Given the description of an element on the screen output the (x, y) to click on. 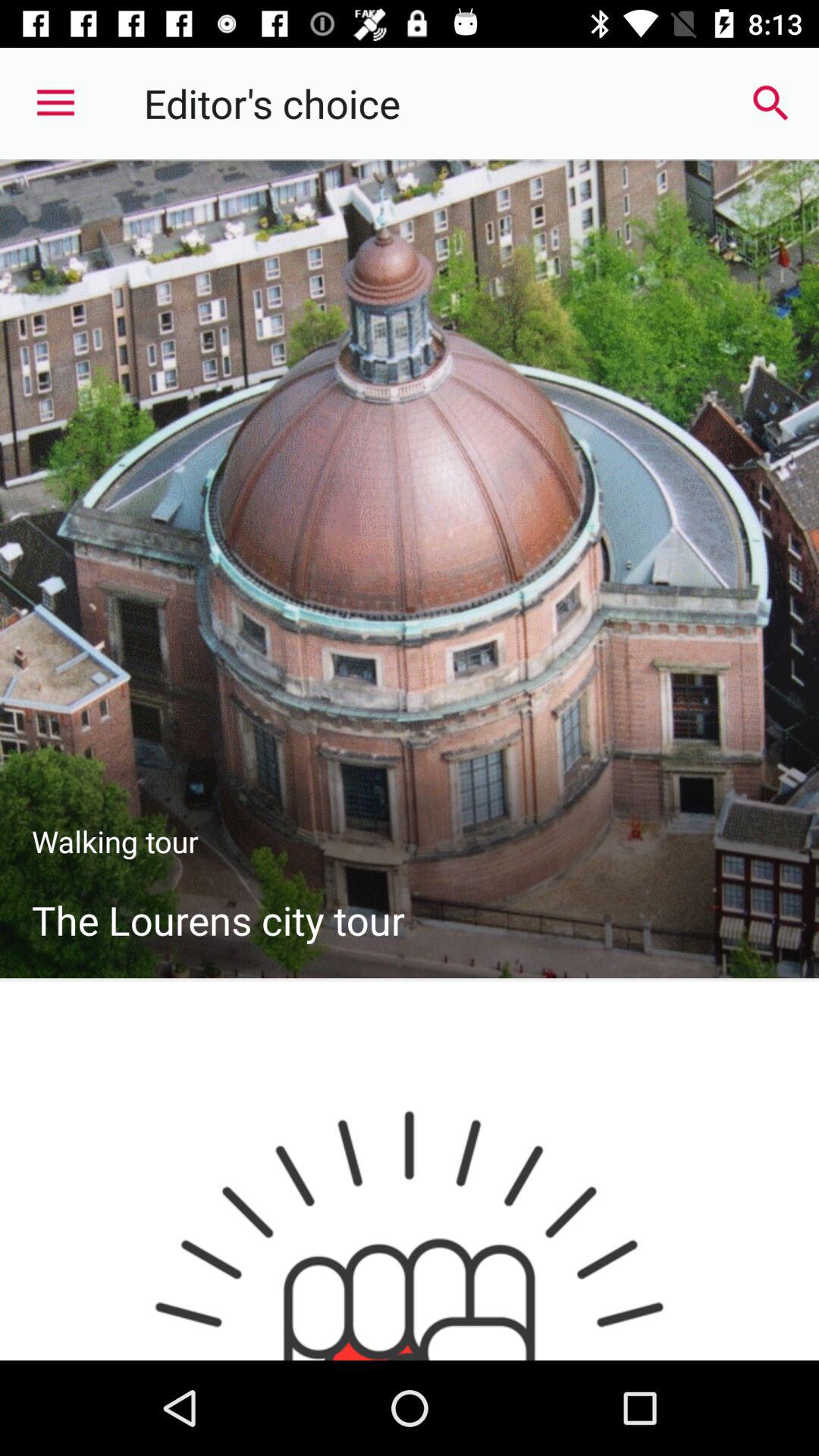
choose the icon next to the editor's choice item (771, 103)
